Given the description of an element on the screen output the (x, y) to click on. 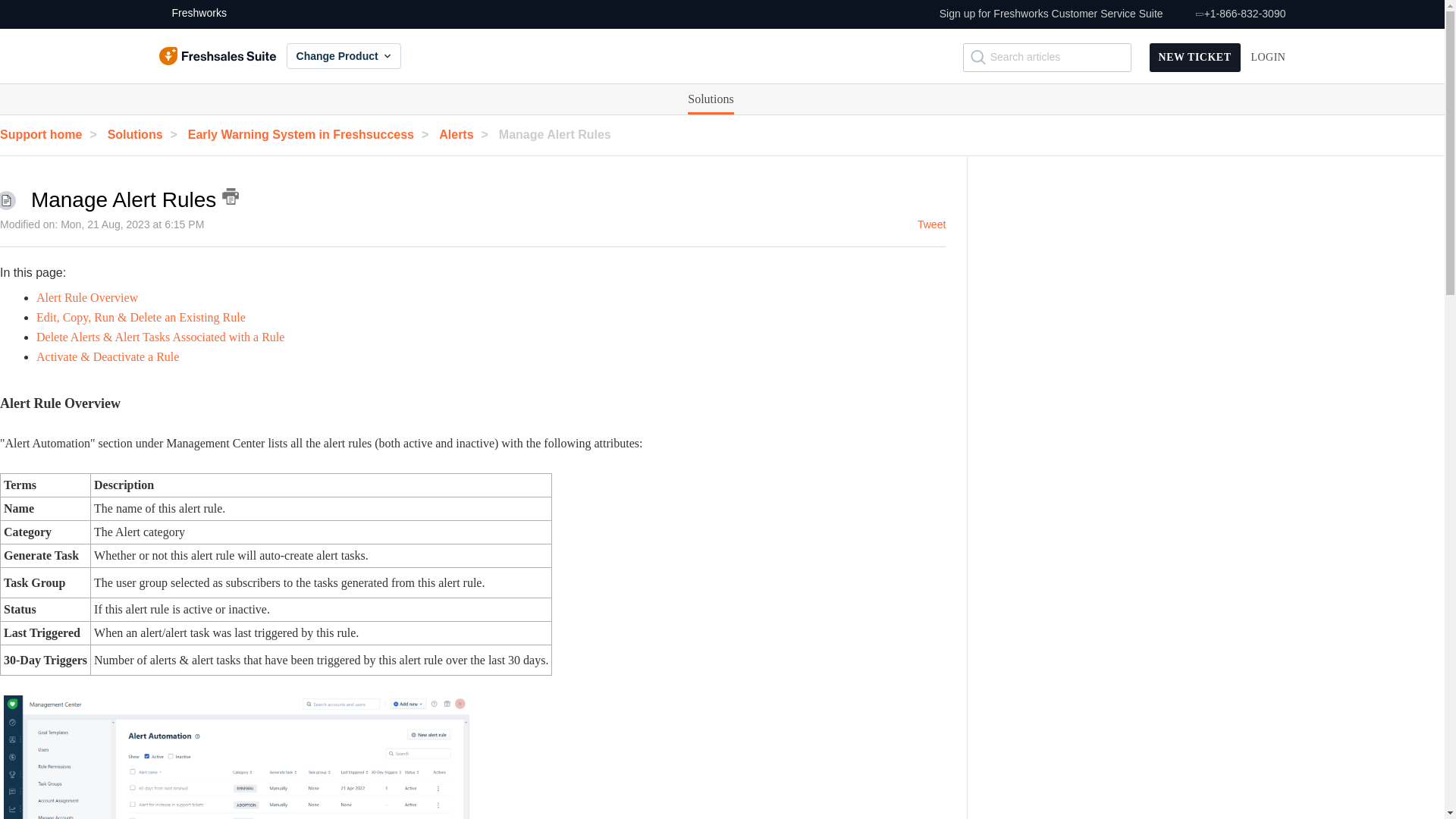
LOGIN (1267, 57)
Solutions (710, 99)
Alerts (467, 133)
NEW TICKET (1195, 57)
Alert Rule Overview (87, 297)
Solutions (710, 99)
Freshworks (192, 13)
Support home (52, 133)
Solutions (710, 99)
Sign up for Freshworks Customer Service Suite (1051, 13)
